Given the description of an element on the screen output the (x, y) to click on. 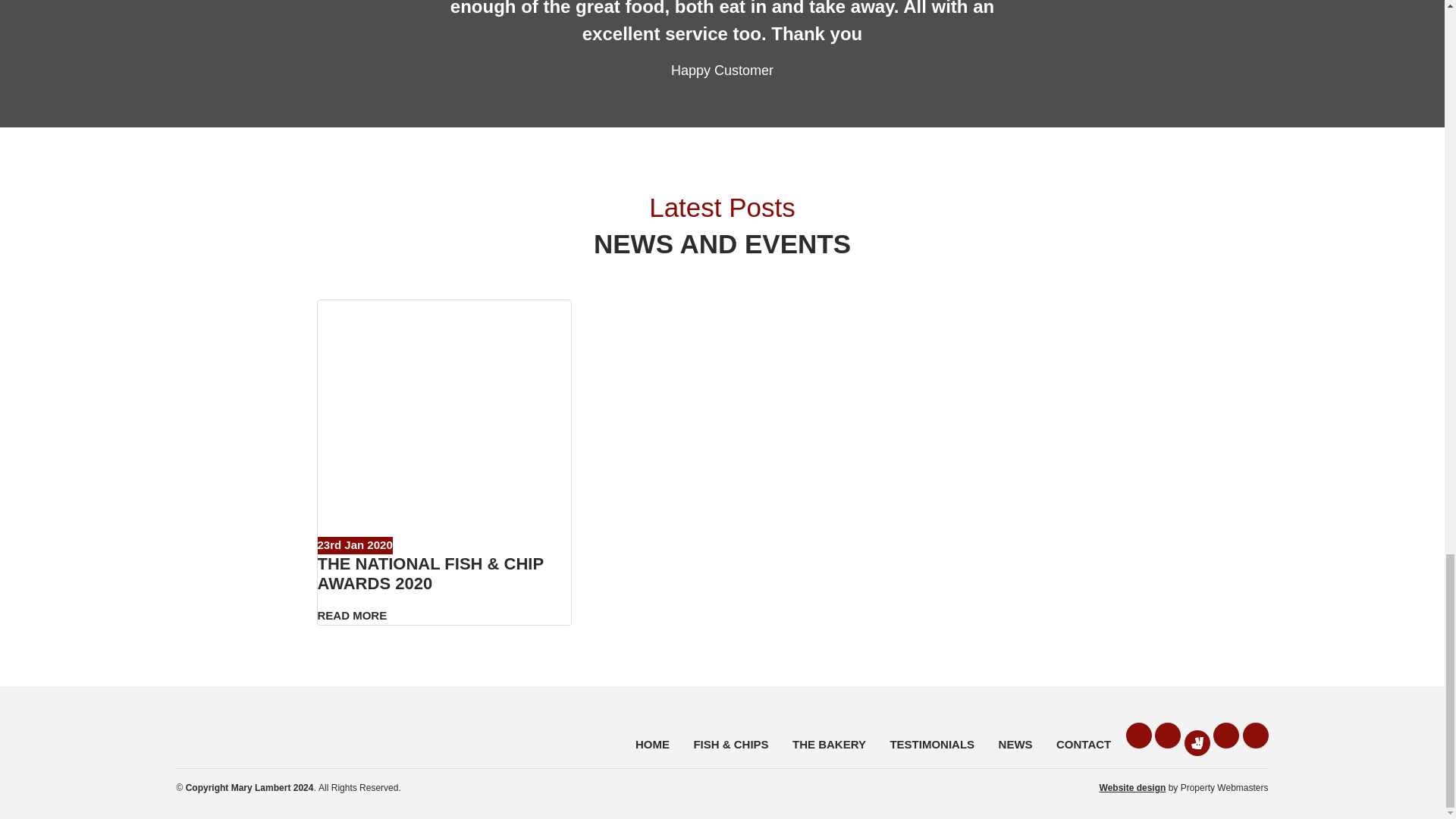
HOME (651, 744)
NEWS (1015, 744)
TESTIMONIALS (931, 744)
THE BAKERY (829, 744)
Property Webmasters (1132, 787)
CONTACT (1083, 744)
READ MORE (352, 615)
